Given the description of an element on the screen output the (x, y) to click on. 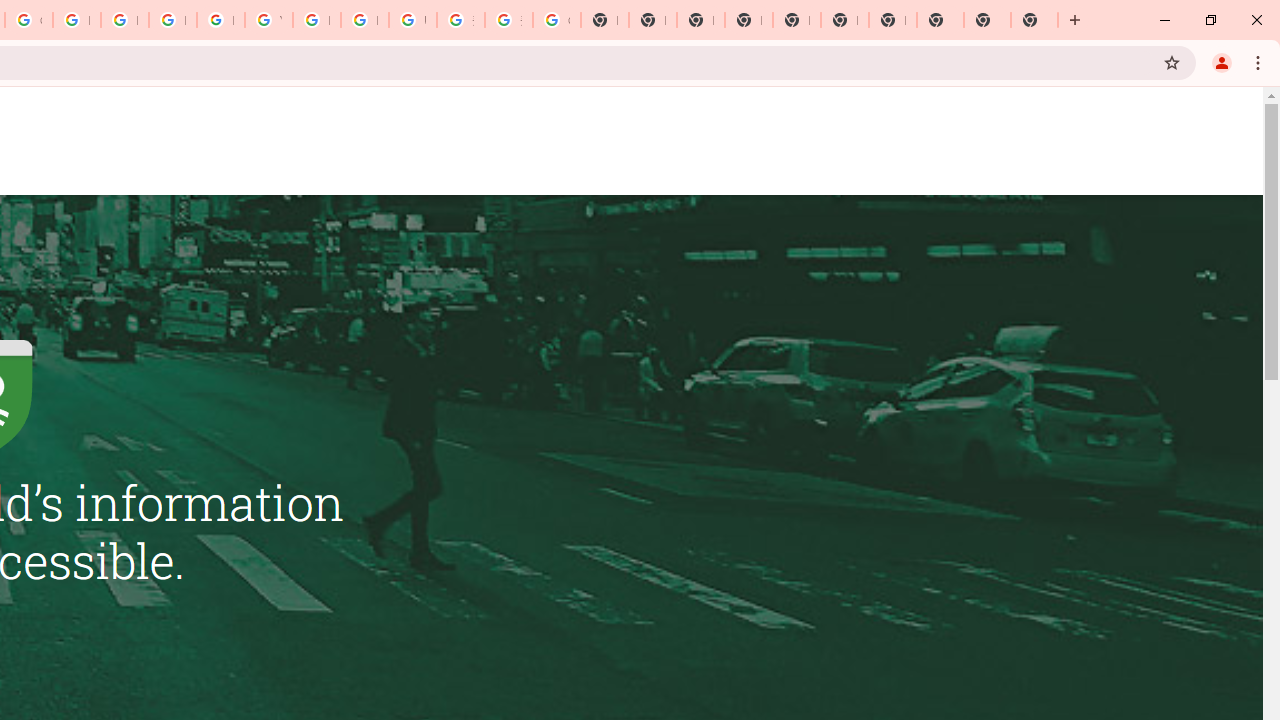
YouTube (268, 20)
New Tab (1034, 20)
